Given the description of an element on the screen output the (x, y) to click on. 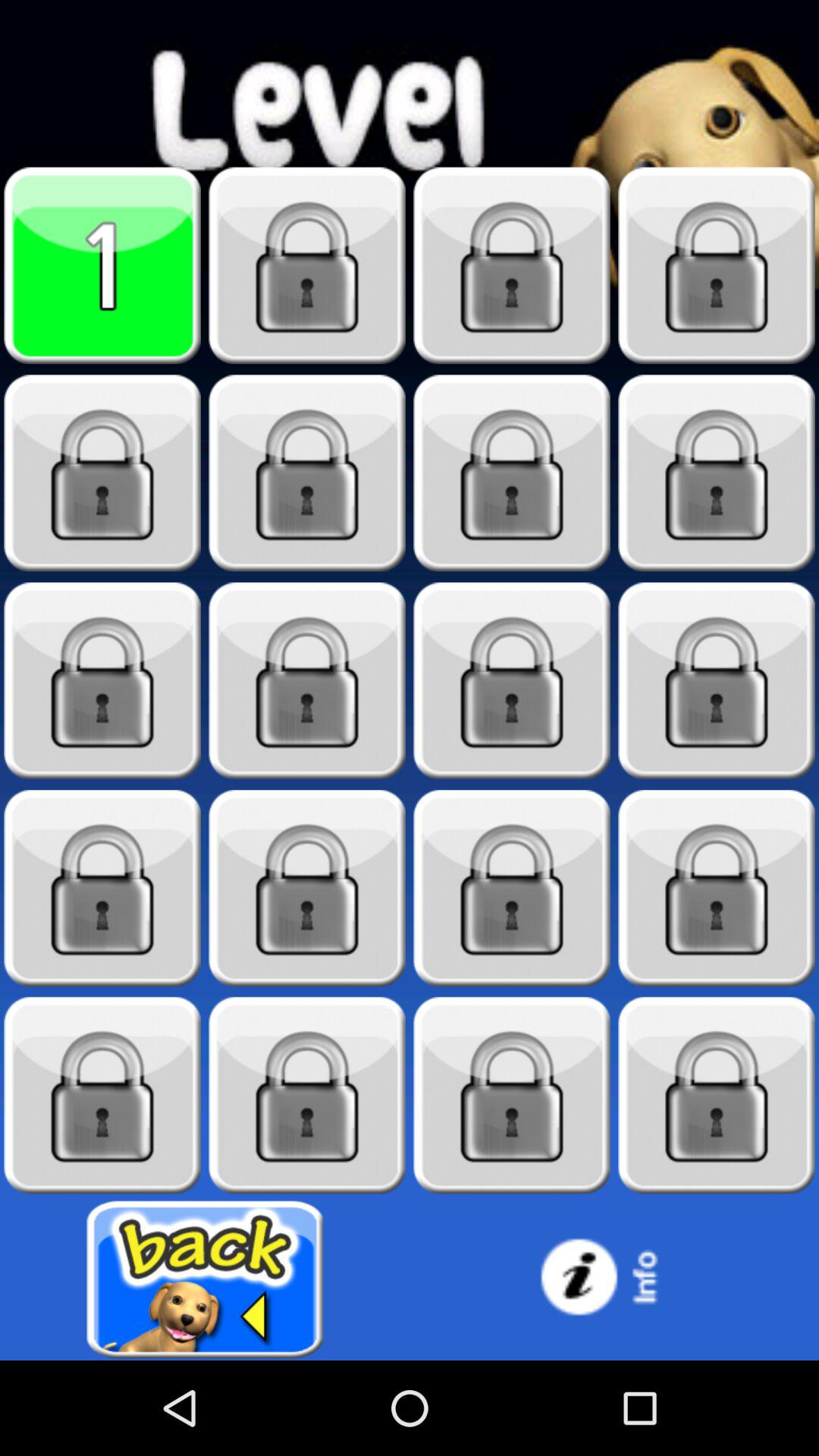
hover over level 3 (511, 265)
